Given the description of an element on the screen output the (x, y) to click on. 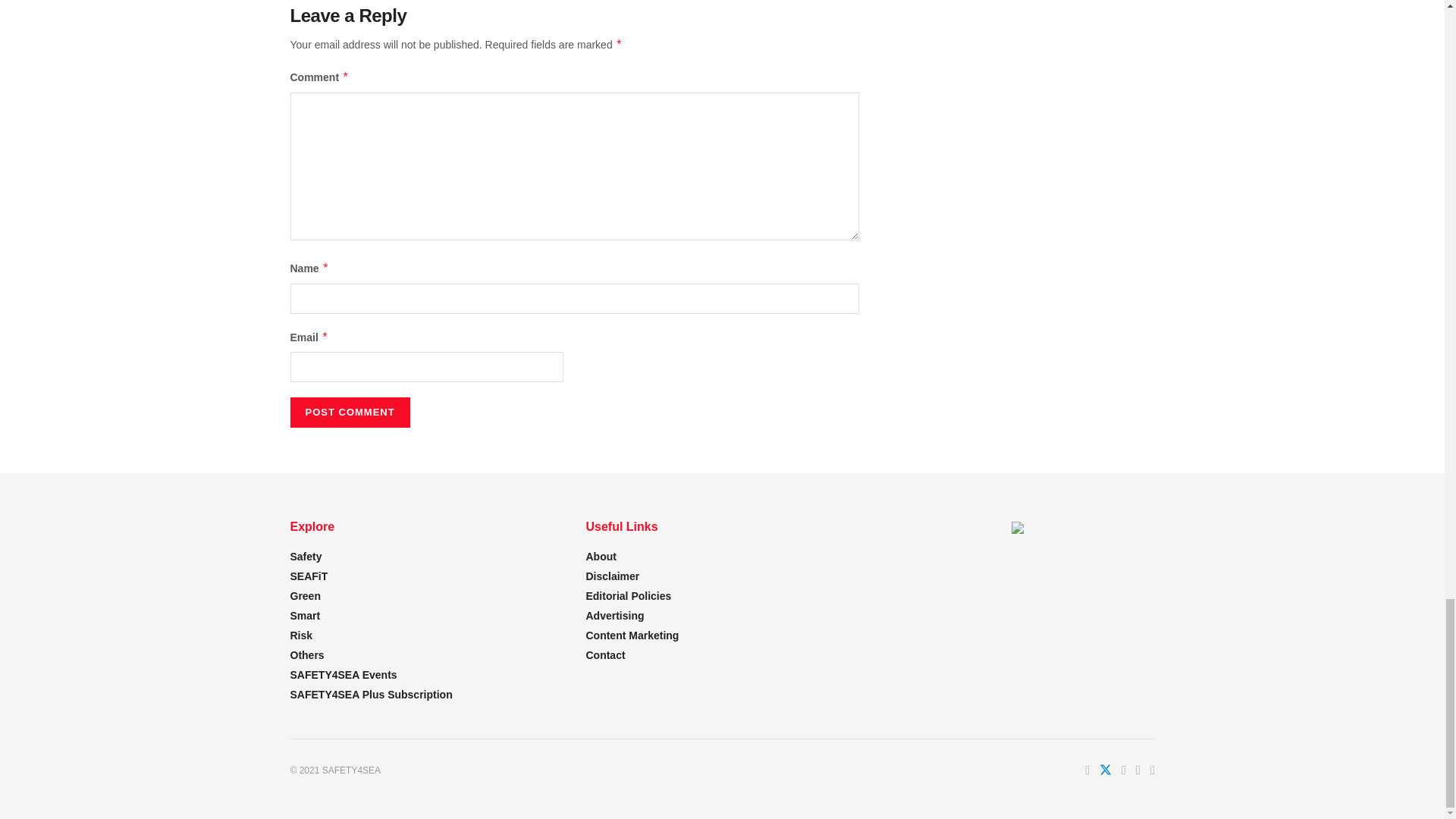
Post Comment (349, 412)
